Given the description of an element on the screen output the (x, y) to click on. 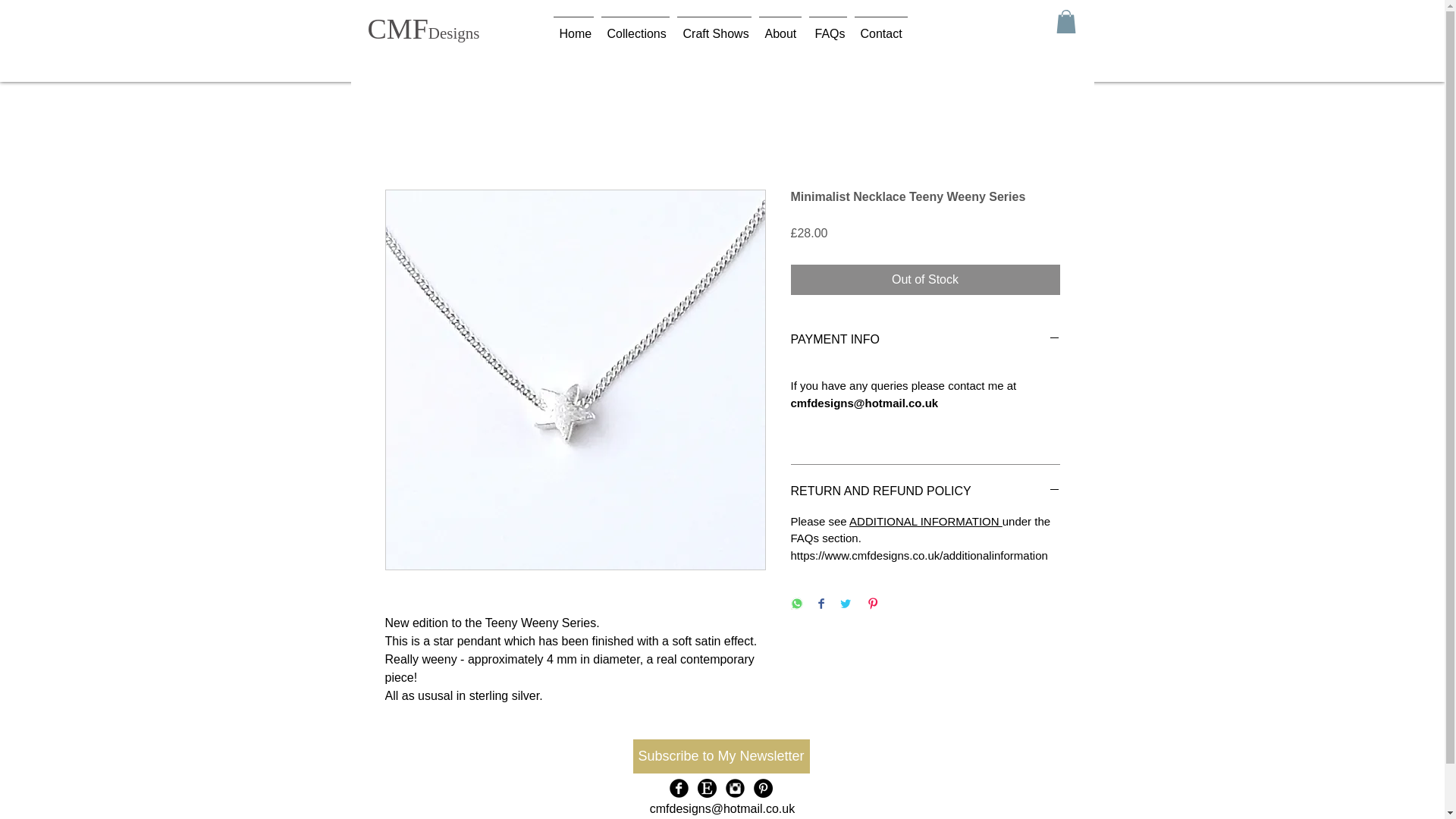
Out of Stock (924, 279)
Subscribe to My Newsletter (720, 756)
Home (572, 26)
About (780, 26)
Collections (634, 26)
ADDITIONAL INFORMATION (925, 521)
Craft Shows (713, 26)
PAYMENT INFO (924, 339)
Designs (454, 33)
CMF (397, 29)
RETURN AND REFUND POLICY (924, 491)
FAQs (827, 26)
Contact (880, 26)
